Given the description of an element on the screen output the (x, y) to click on. 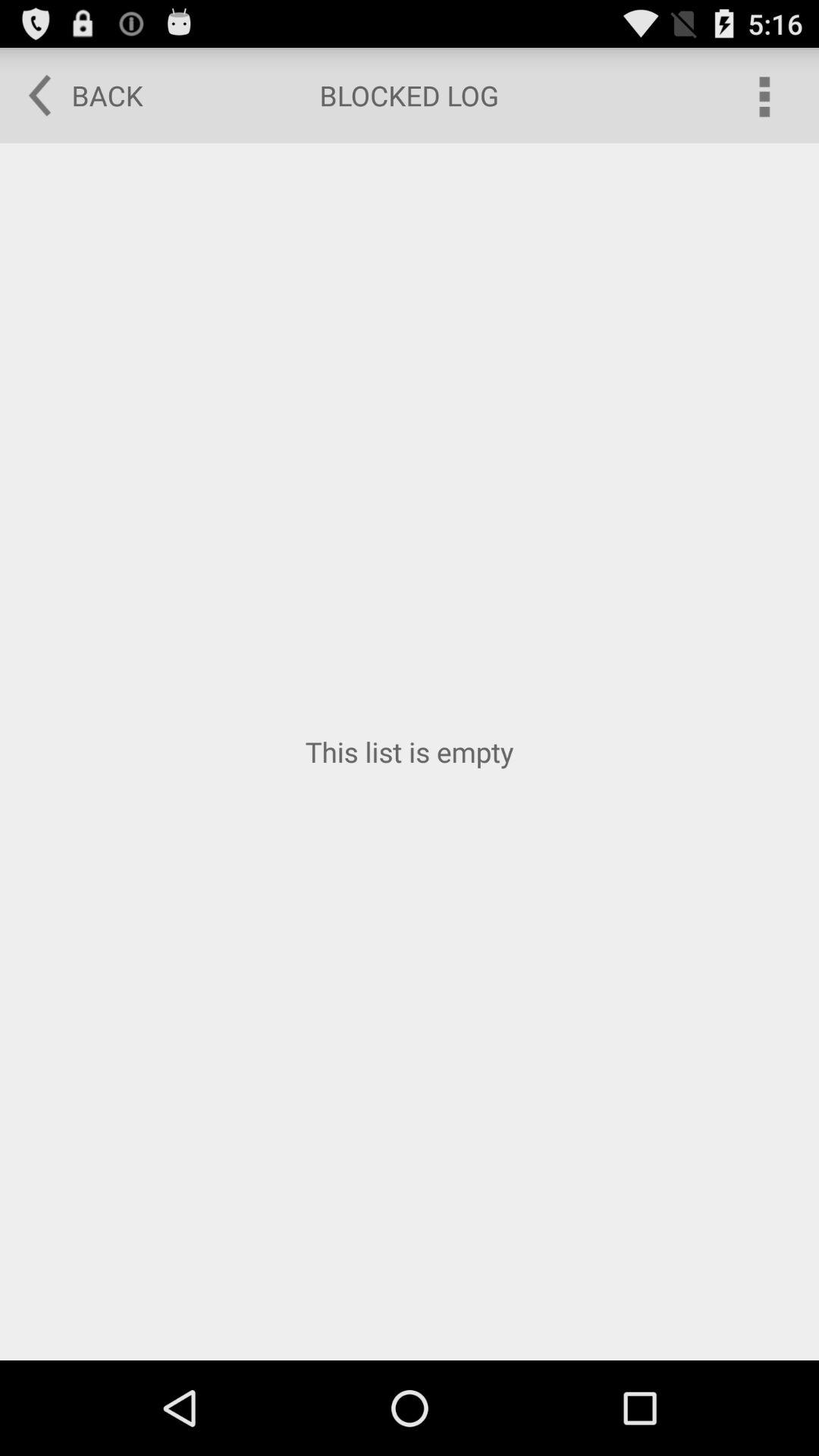
choose the app above the this list is (75, 95)
